Given the description of an element on the screen output the (x, y) to click on. 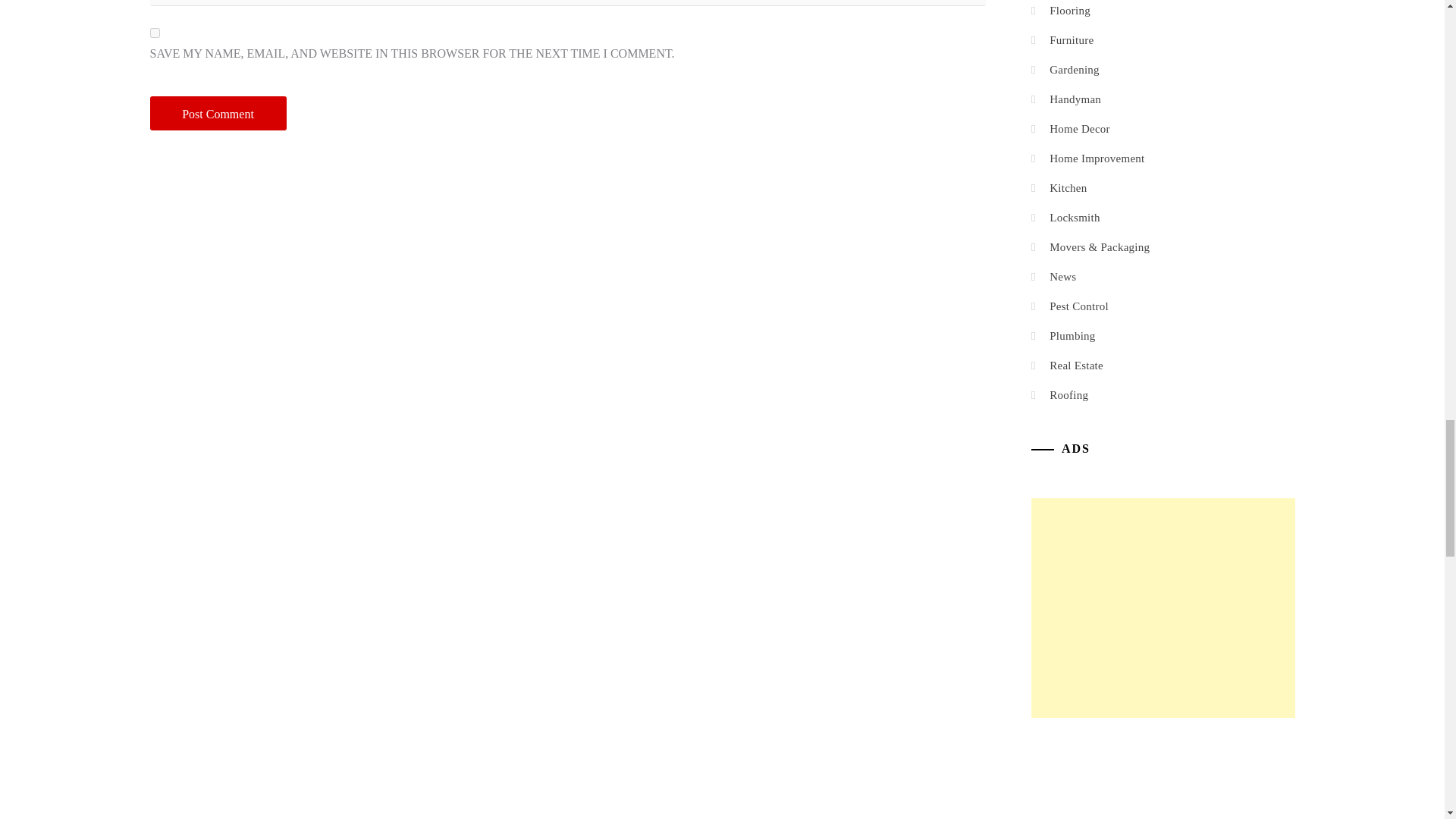
yes (154, 32)
Post Comment (217, 113)
